Given the description of an element on the screen output the (x, y) to click on. 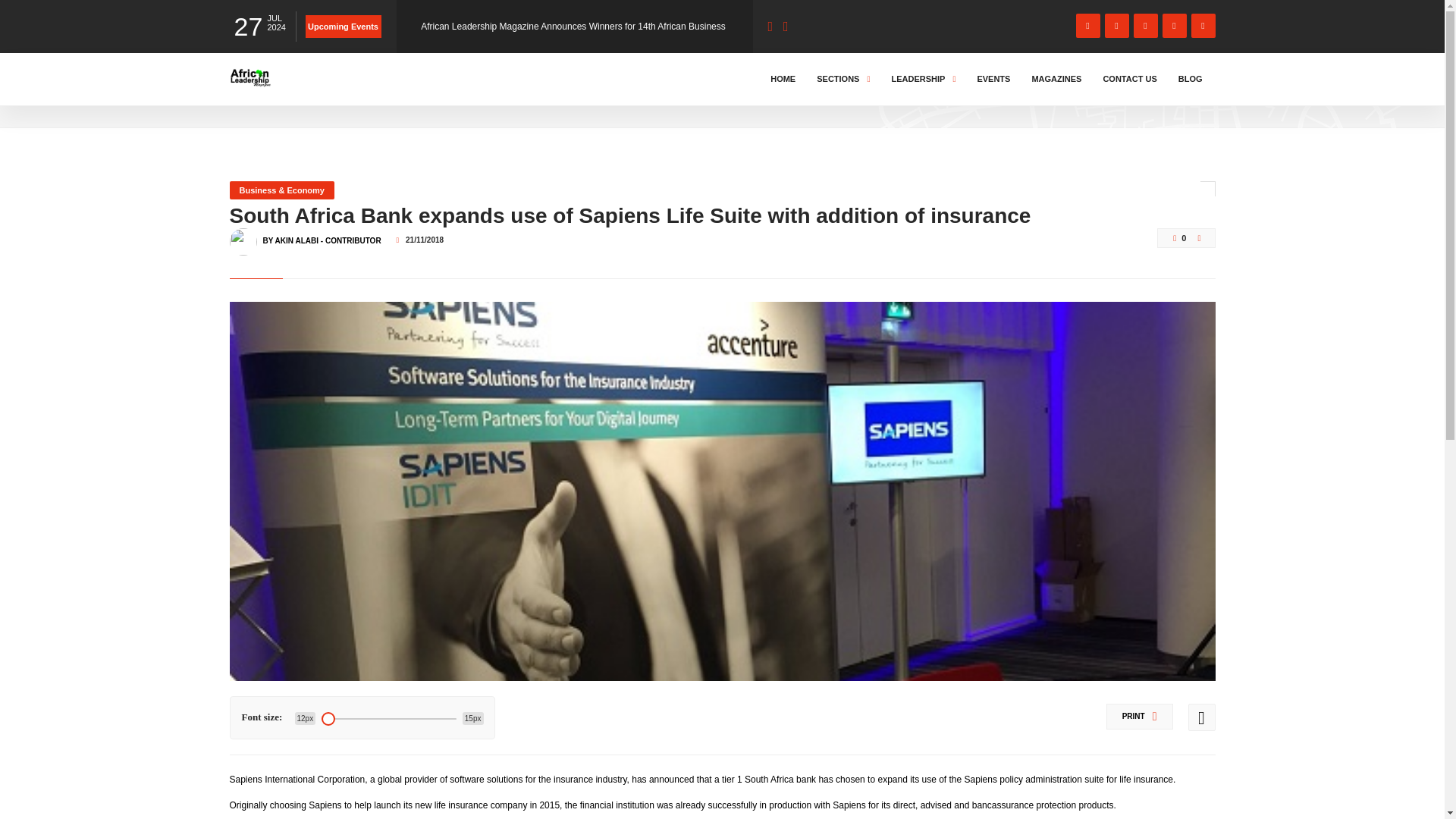
EVENTS (992, 79)
SECTIONS (842, 79)
BLOG (293, 92)
BY AKIN ALABI - CONTRIBUTOR (321, 233)
PRINT (1139, 716)
CONTACT US (1129, 79)
BLOG (1190, 79)
Scroll Down To Discover (1154, 88)
HOME (782, 79)
LEADERSHIP (922, 79)
HOME (246, 92)
MAGAZINES (1056, 79)
